Given the description of an element on the screen output the (x, y) to click on. 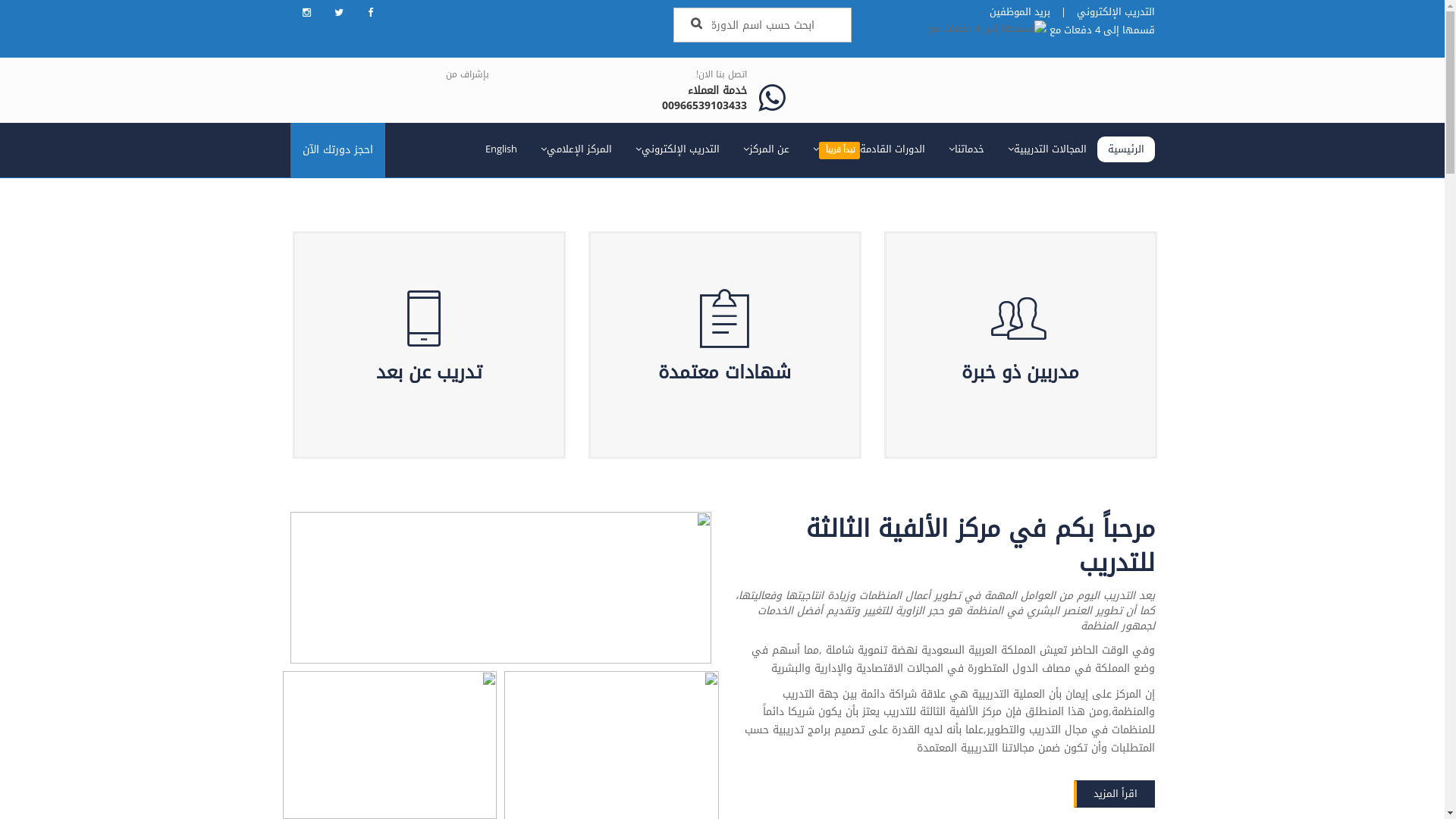
English Element type: text (500, 149)
00966539103433 Element type: text (704, 105)
